Given the description of an element on the screen output the (x, y) to click on. 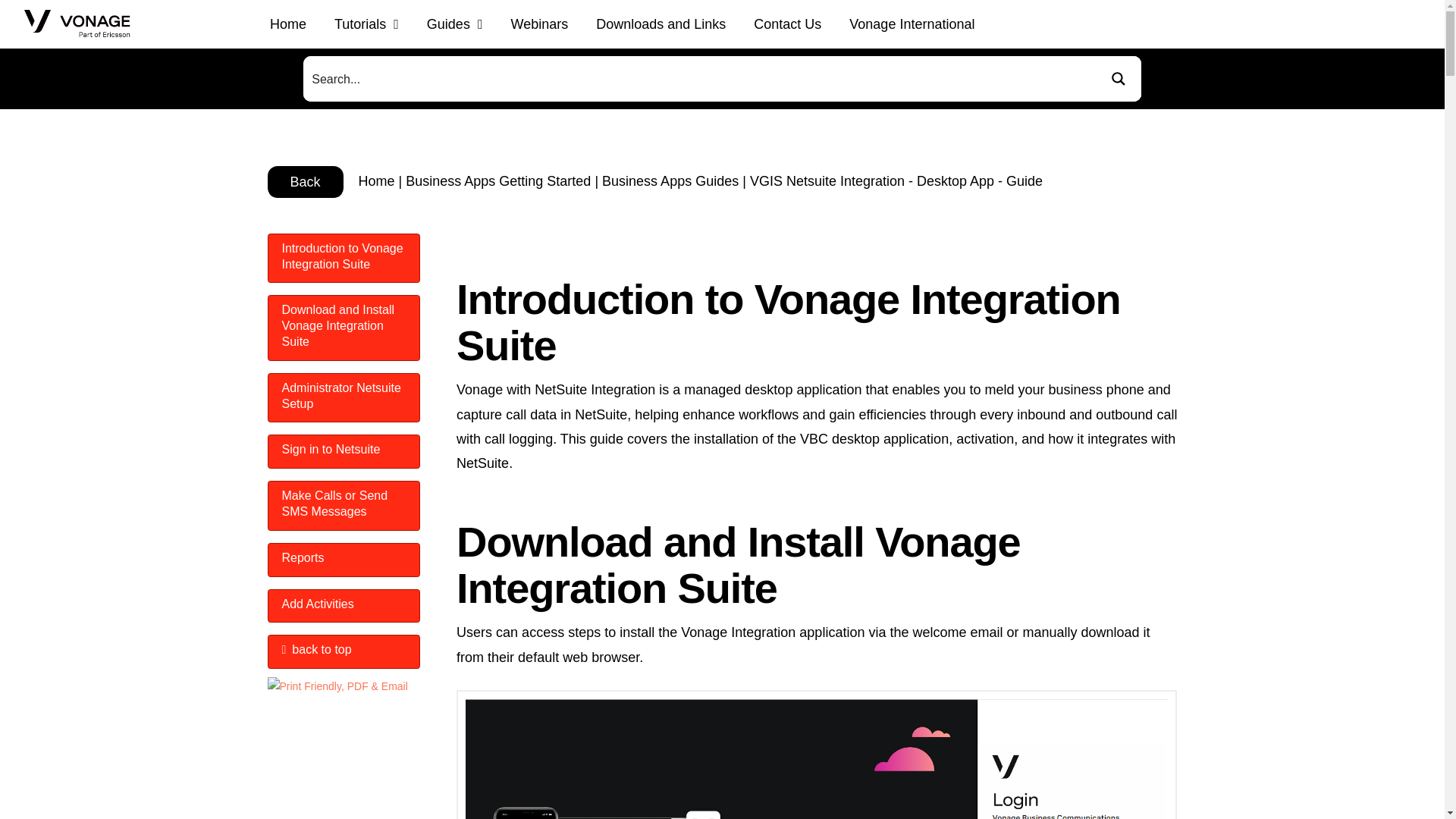
Home (288, 24)
Downloads and Links (660, 24)
Webinars (539, 24)
Back (304, 181)
Tutorials (366, 24)
Business Apps Getting Started (498, 180)
Guides (454, 24)
Vonage International (911, 24)
Home (376, 180)
Contact Us (787, 24)
